Given the description of an element on the screen output the (x, y) to click on. 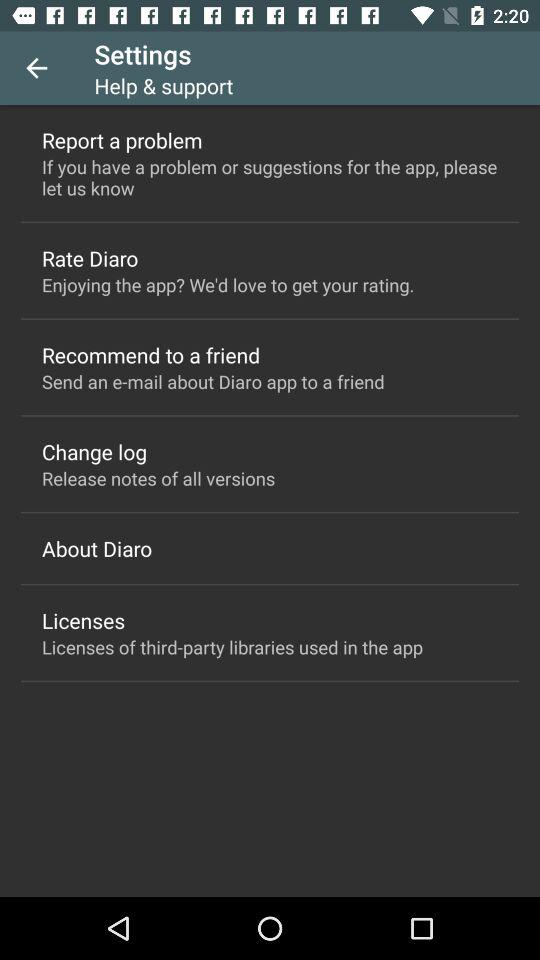
launch change log item (94, 451)
